Given the description of an element on the screen output the (x, y) to click on. 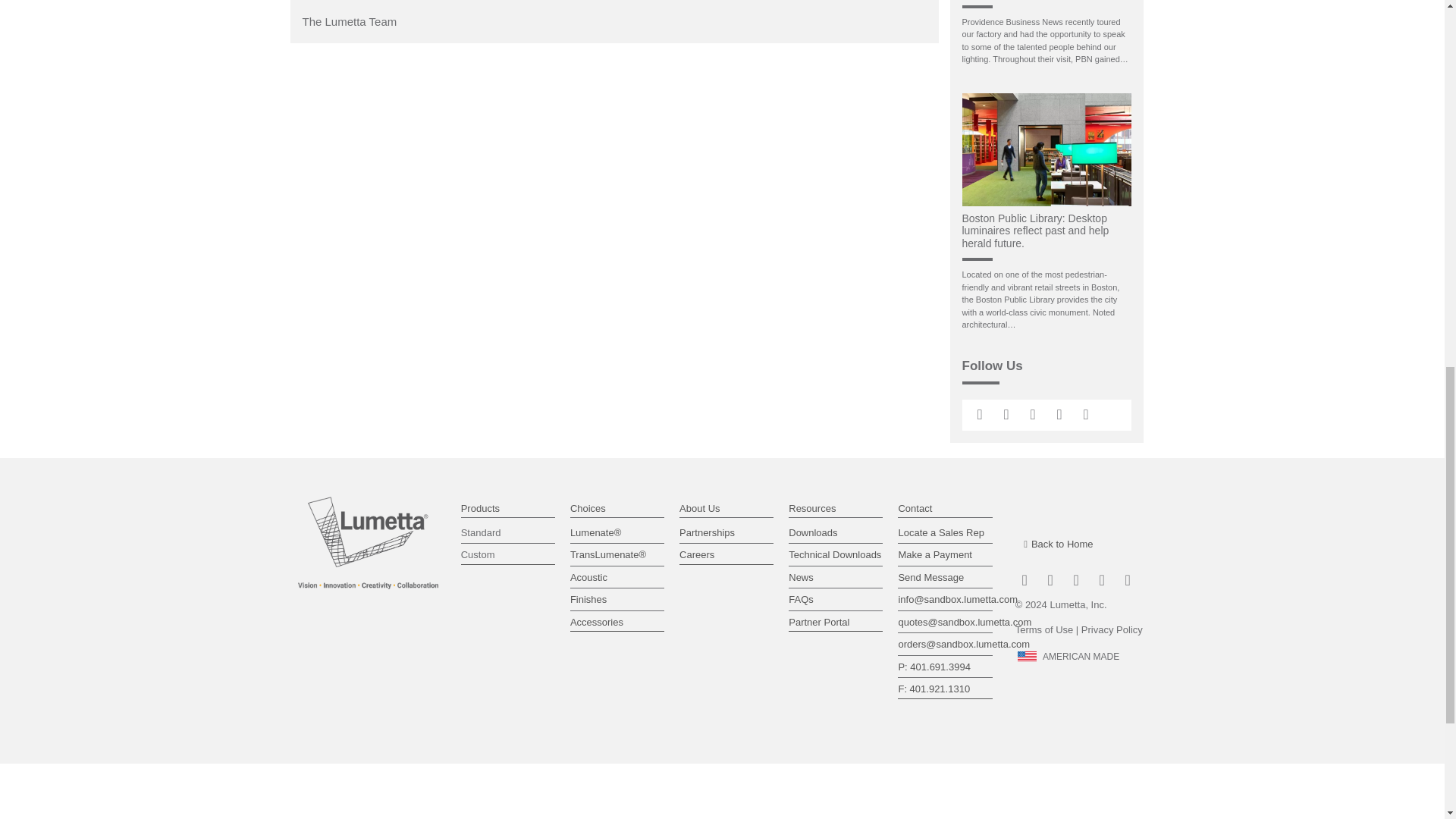
Custom (507, 554)
Choices (587, 508)
Products (480, 508)
Pinterest (1059, 414)
Facebook (1085, 414)
LinkedIn (979, 414)
Twitter (1032, 414)
Instagram (1005, 414)
Standard (507, 532)
